Given the description of an element on the screen output the (x, y) to click on. 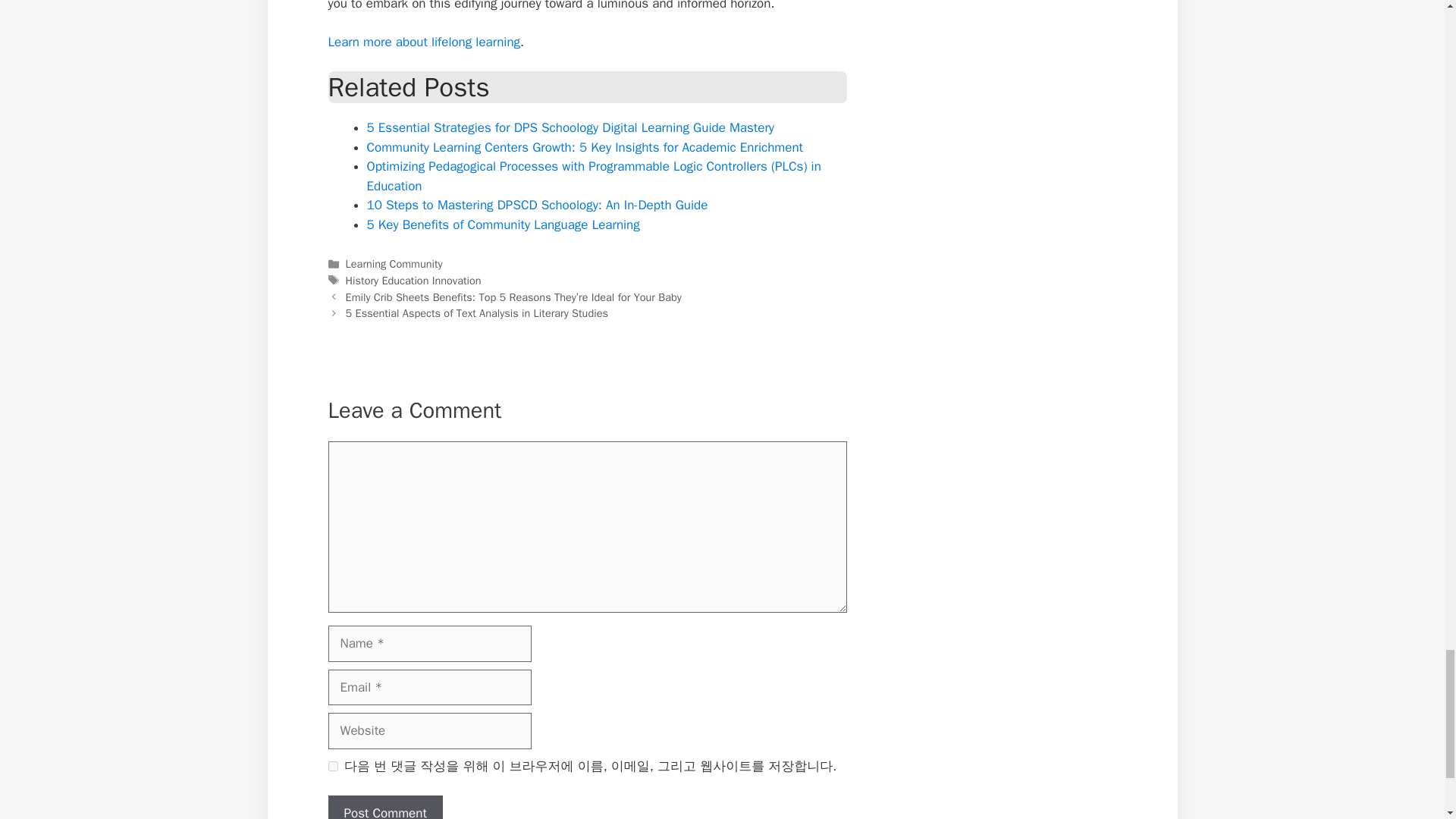
Post Comment (384, 807)
Learn more about lifelong learning (423, 41)
10 Steps to Mastering DPSCD Schoology: An In-Depth Guide (536, 204)
yes (332, 766)
